Given the description of an element on the screen output the (x, y) to click on. 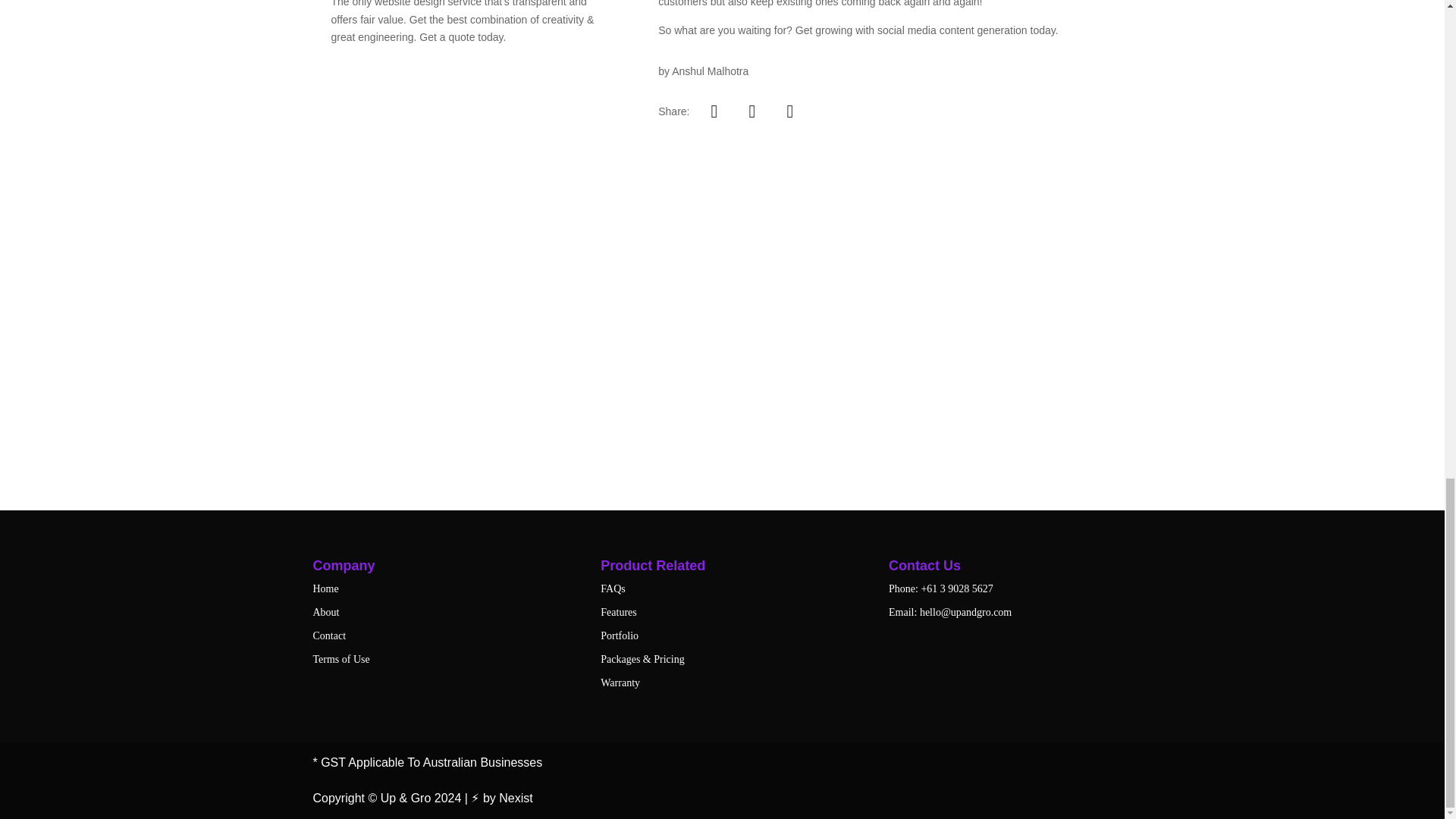
Features (617, 612)
Follow on dribbble (766, 430)
Follow on Instagram (737, 430)
Follow on X (675, 430)
Contact Us Today (722, 358)
Anshul Malhotra (709, 70)
Home (325, 588)
About (326, 612)
Follow on Youtube (797, 430)
Posts by Anshul Malhotra (709, 70)
Contact (329, 635)
Terms of Use (341, 659)
FAQs (611, 588)
Follow on LinkedIn (706, 430)
Follow on Facebook (645, 430)
